Given the description of an element on the screen output the (x, y) to click on. 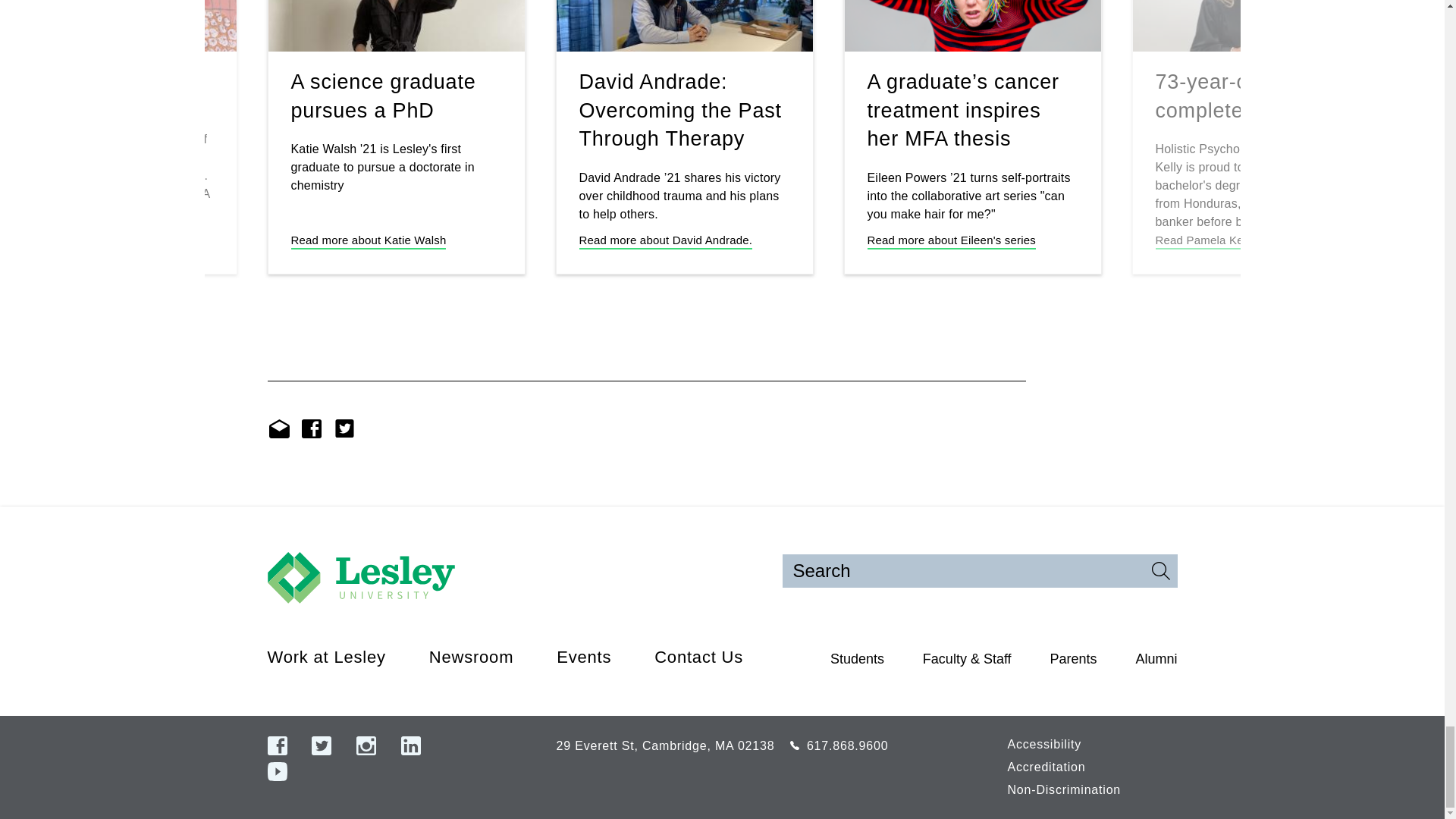
Enter the terms you wish to search for. (980, 571)
Share to E-mail (277, 428)
Share to Twitter (343, 428)
Share to Facebook (311, 428)
